Given the description of an element on the screen output the (x, y) to click on. 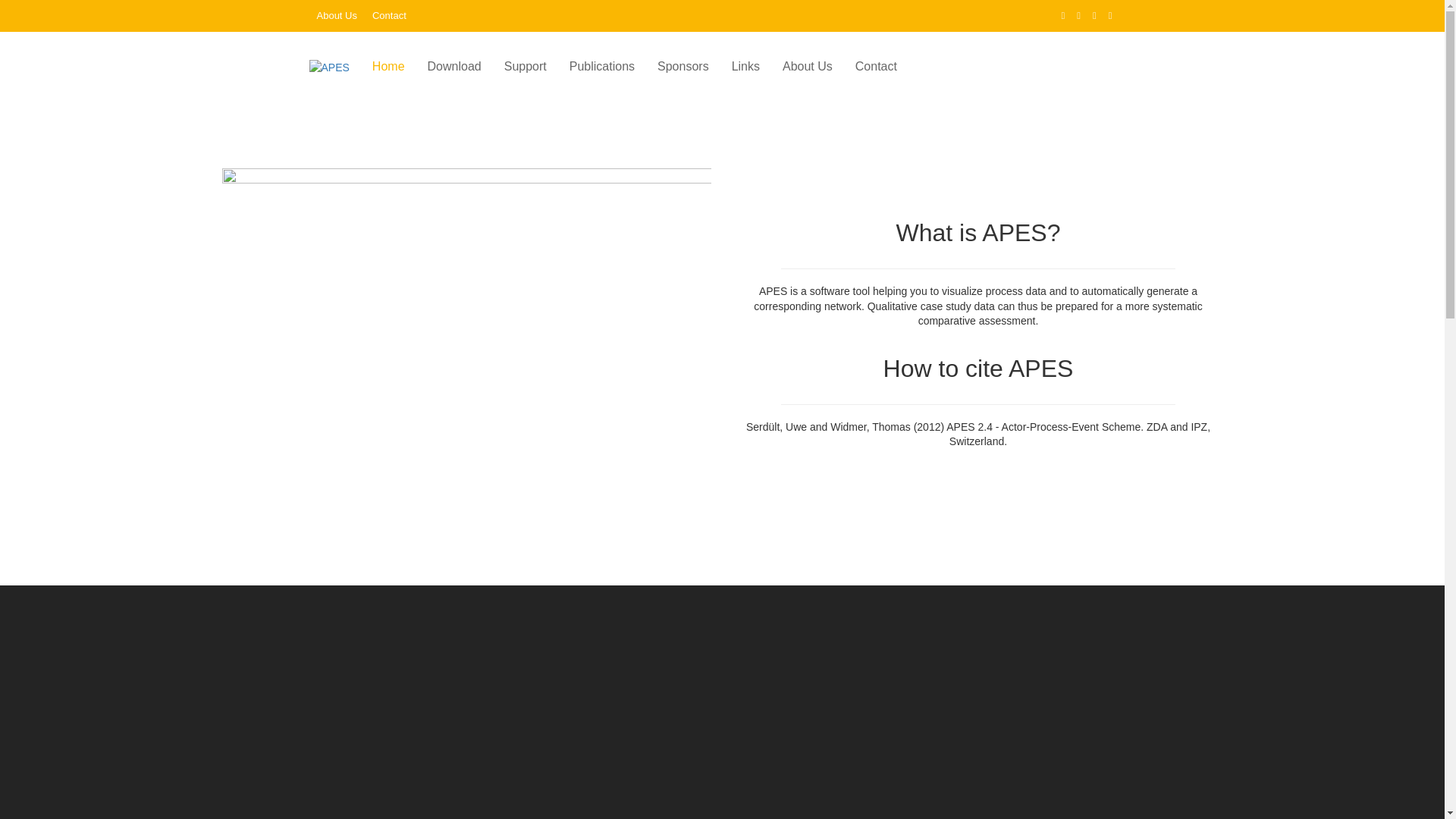
Sponsors Element type: text (683, 66)
About Us Element type: text (336, 15)
Contact Element type: text (389, 15)
Support Element type: text (525, 66)
Publications Element type: text (602, 66)
Download Element type: text (454, 66)
About Us Element type: text (807, 66)
Contact Element type: text (876, 66)
Rio_Process Element type: hover (465, 332)
Home Element type: text (388, 66)
Links Element type: text (745, 66)
